Given the description of an element on the screen output the (x, y) to click on. 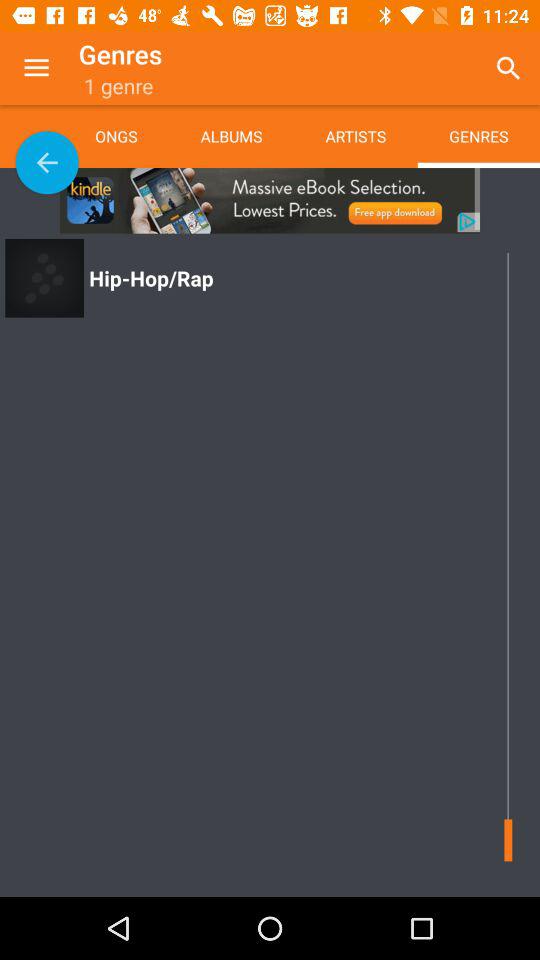
open icon next to the songs app (47, 162)
